Given the description of an element on the screen output the (x, y) to click on. 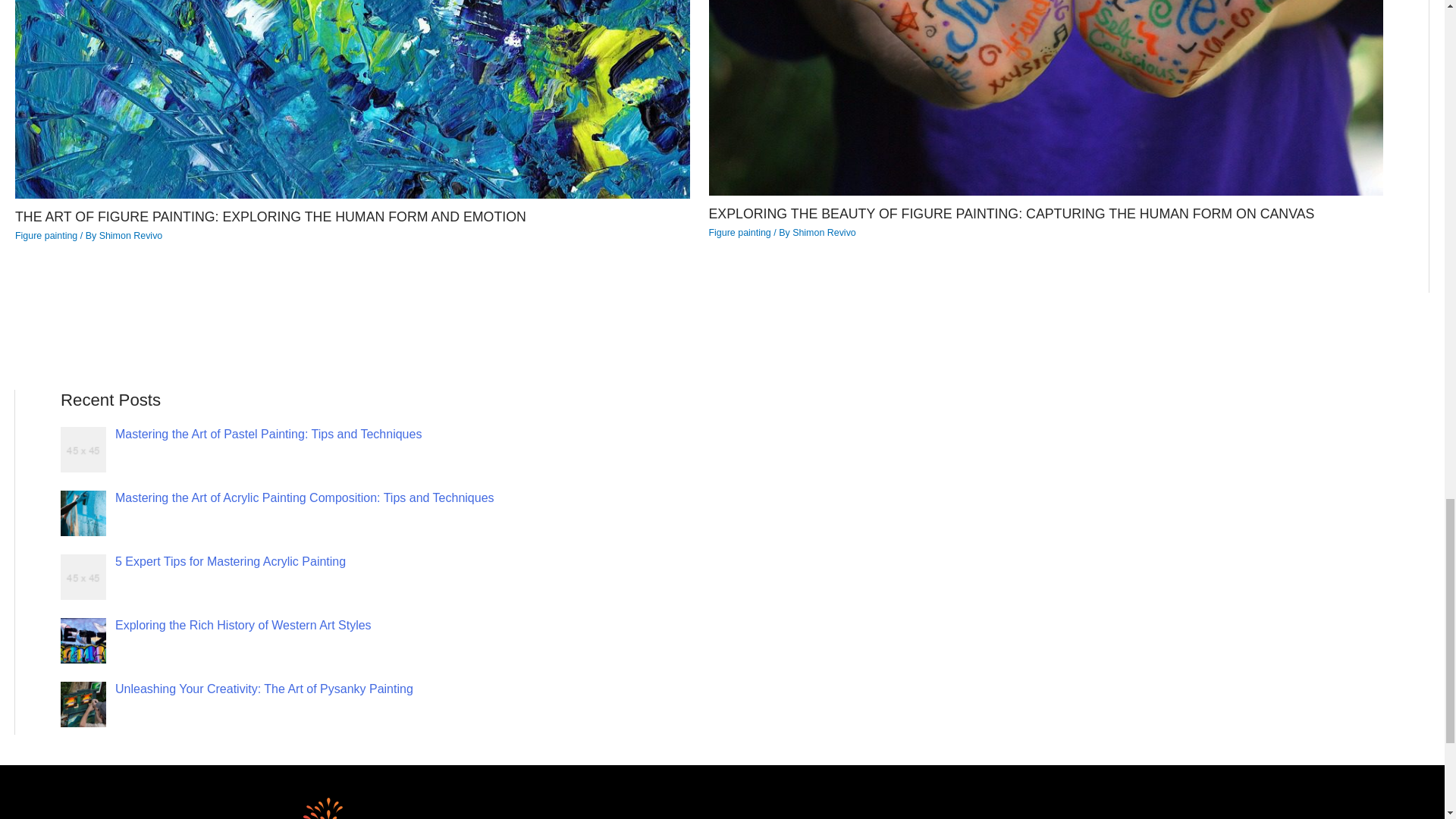
Shimon Revivo (824, 232)
Shimon Revivo (131, 235)
Figure painting (45, 235)
Figure painting (738, 232)
View all posts by Shimon Revivo (824, 232)
View all posts by Shimon Revivo (131, 235)
cropped-logo.png (369, 807)
